Given the description of an element on the screen output the (x, y) to click on. 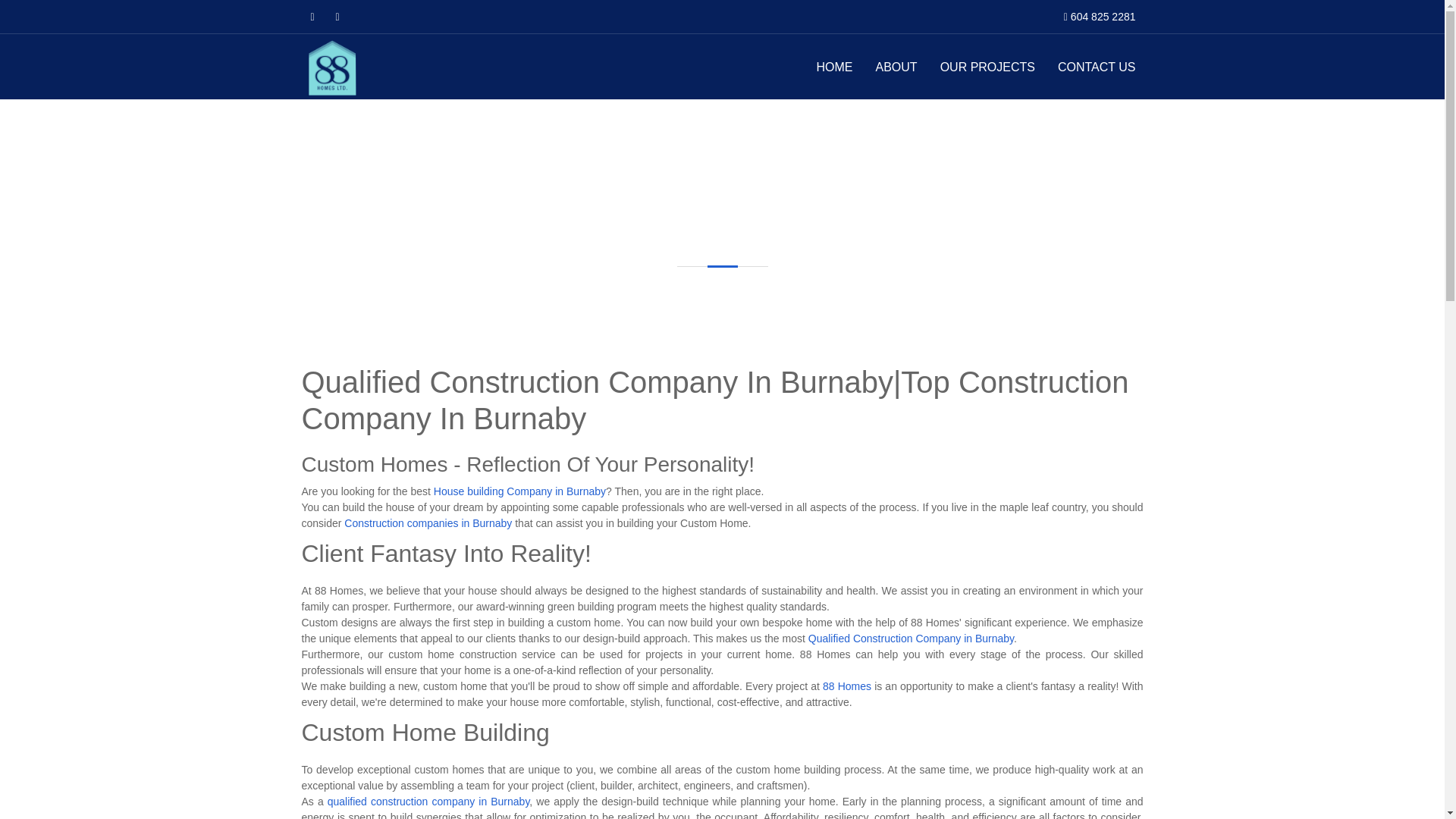
OUR PROJECTS (987, 67)
88 Homes (846, 686)
604 825 2281 (1102, 16)
Construction companies in Burnaby (427, 522)
CONTACT US (1095, 67)
House building Company in Burnaby (519, 491)
ABOUT (895, 67)
qualified construction company in Burnaby (428, 801)
HOME (834, 67)
Qualified Construction Company in Burnaby (910, 638)
